Given the description of an element on the screen output the (x, y) to click on. 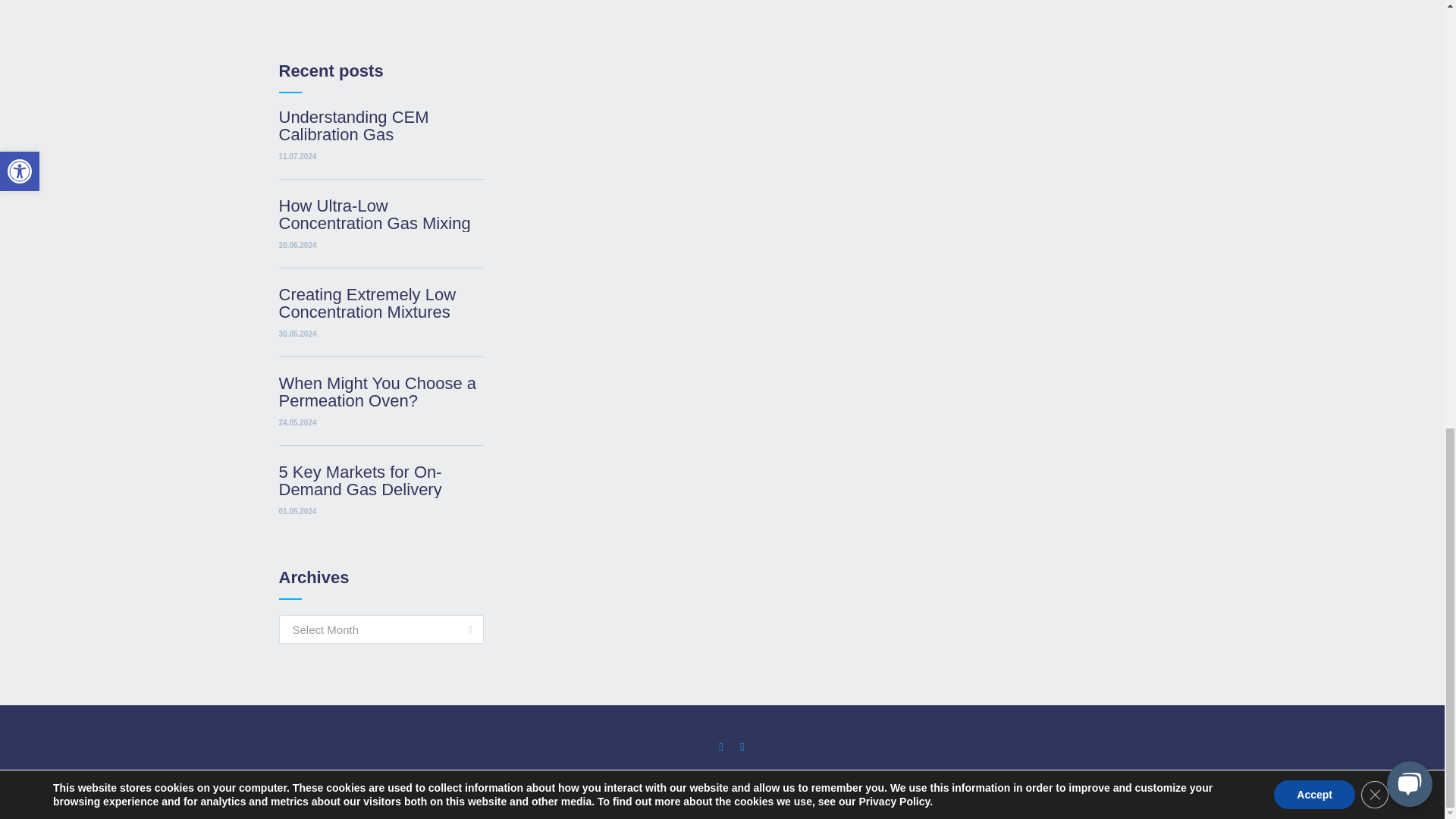
Select Month (381, 629)
